Given the description of an element on the screen output the (x, y) to click on. 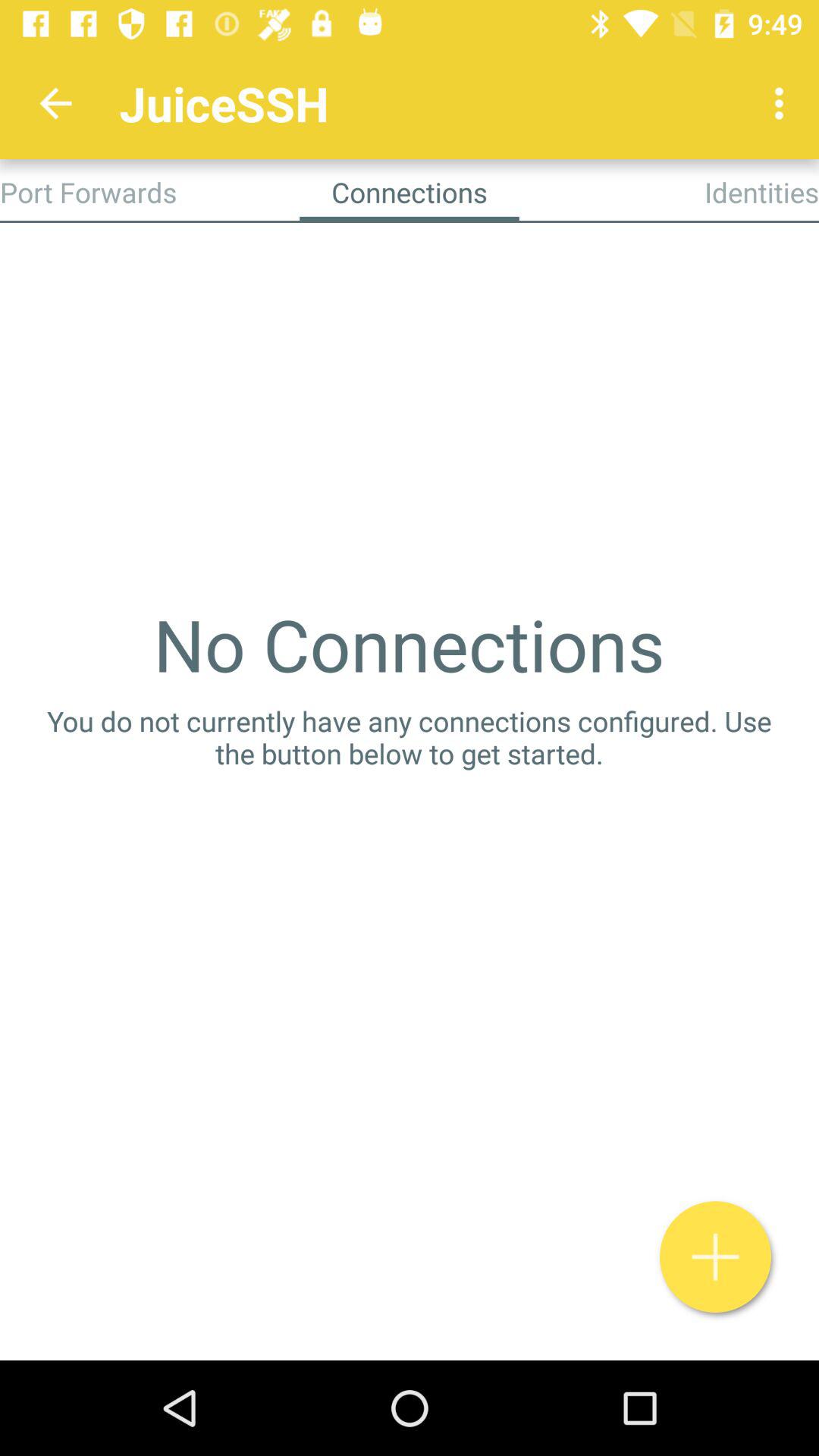
launch the no connections (408, 644)
